Given the description of an element on the screen output the (x, y) to click on. 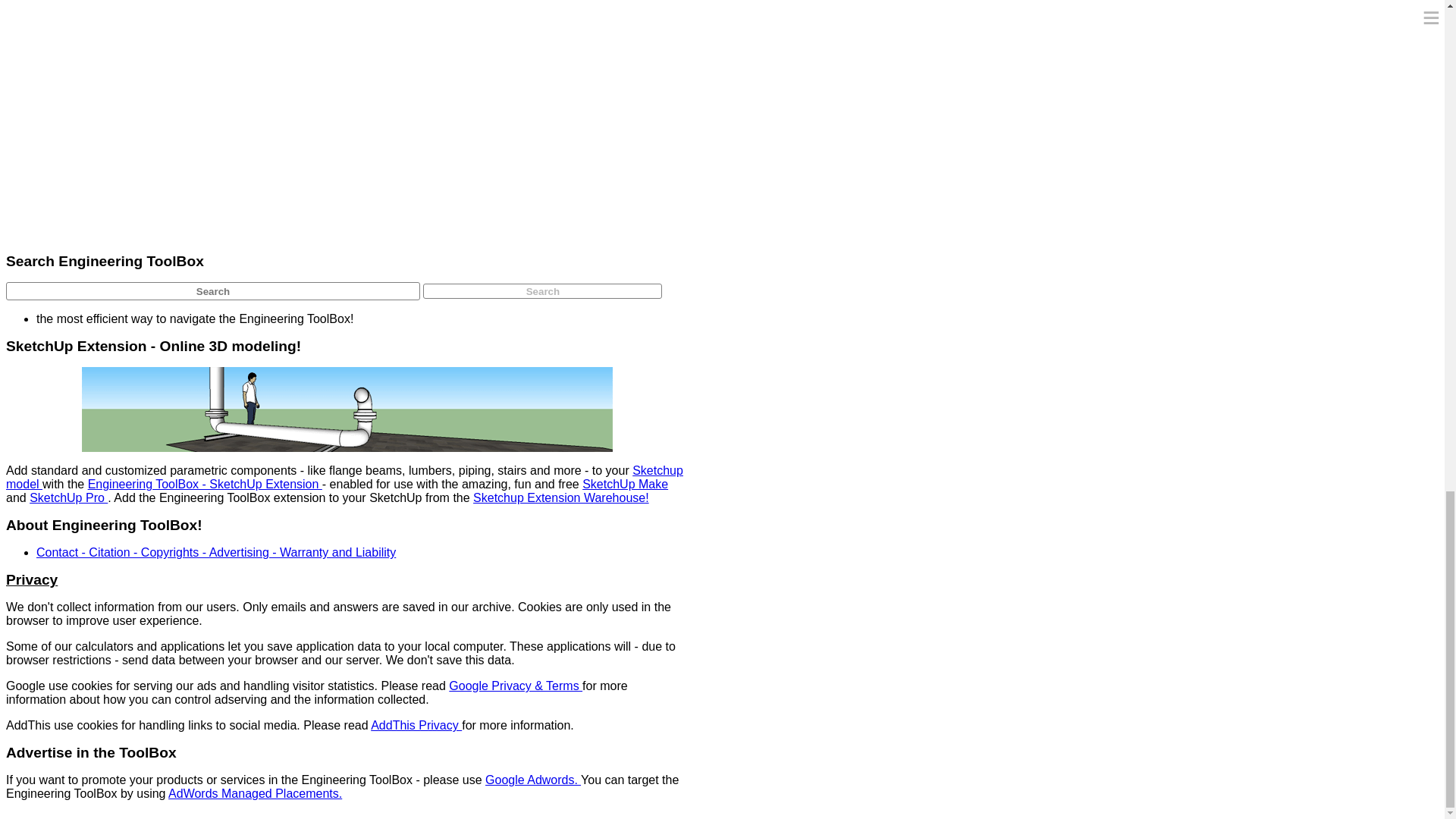
Search (542, 290)
SketchUp Make (625, 483)
Engineering ToolBox - SketchUp Extension (204, 483)
SketchUp Pro (68, 497)
Sketchup model (343, 477)
AddThis Privacy (416, 725)
Google Adwords. (532, 779)
Sketchup Extension Warehouse! (561, 497)
Privacy (31, 579)
